Given the description of an element on the screen output the (x, y) to click on. 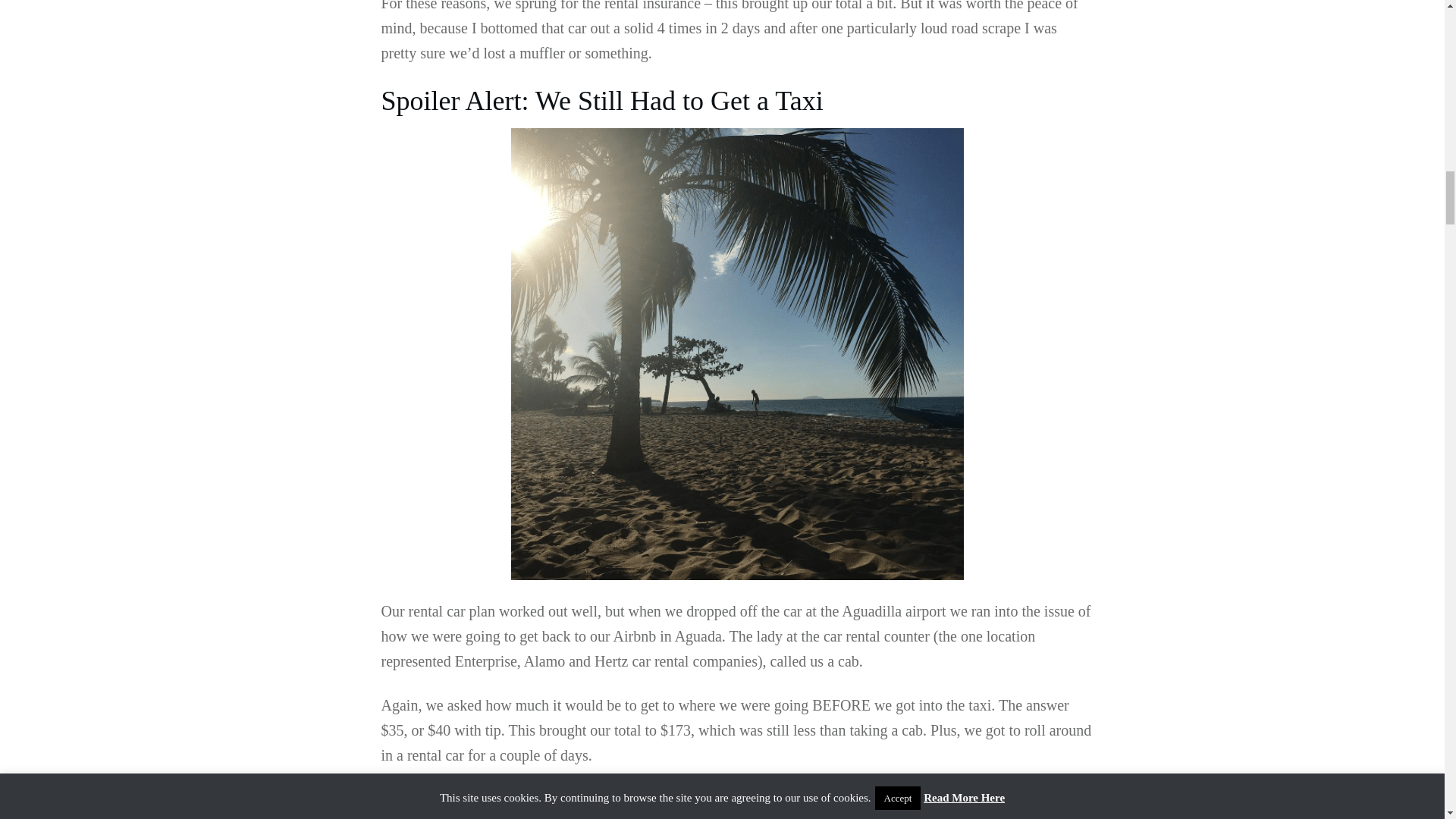
Aguadilla Taxi (780, 817)
